Given the description of an element on the screen output the (x, y) to click on. 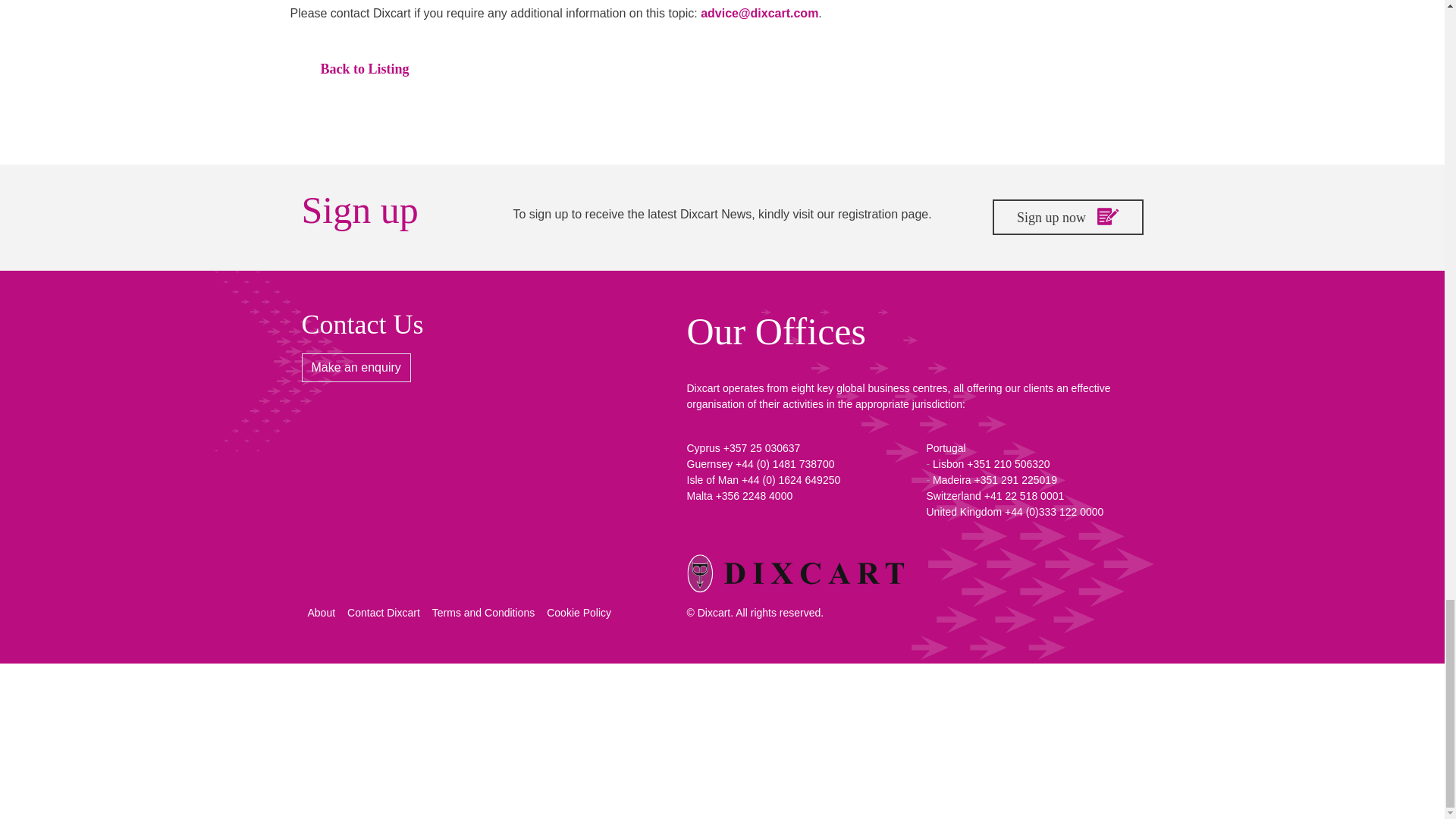
Terms and Conditions (483, 612)
Cookie Policy (578, 612)
About (321, 612)
Contact Dixcart (383, 612)
